Given the description of an element on the screen output the (x, y) to click on. 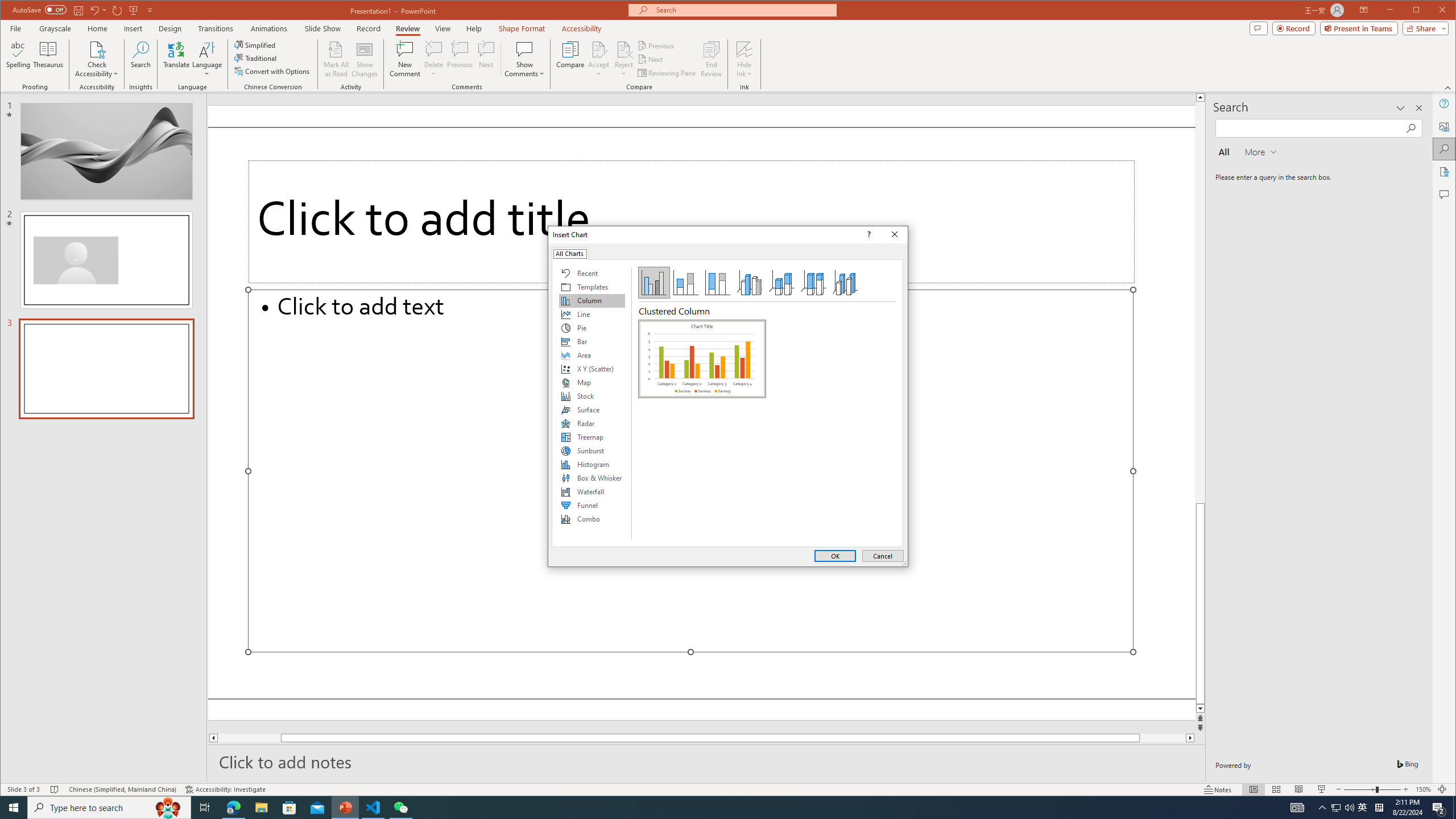
Translate (175, 59)
Mark All as Read (335, 59)
3-D 100% Stacked Column (813, 282)
Histogram (591, 464)
Simplified (255, 44)
Column (591, 300)
